Given the description of an element on the screen output the (x, y) to click on. 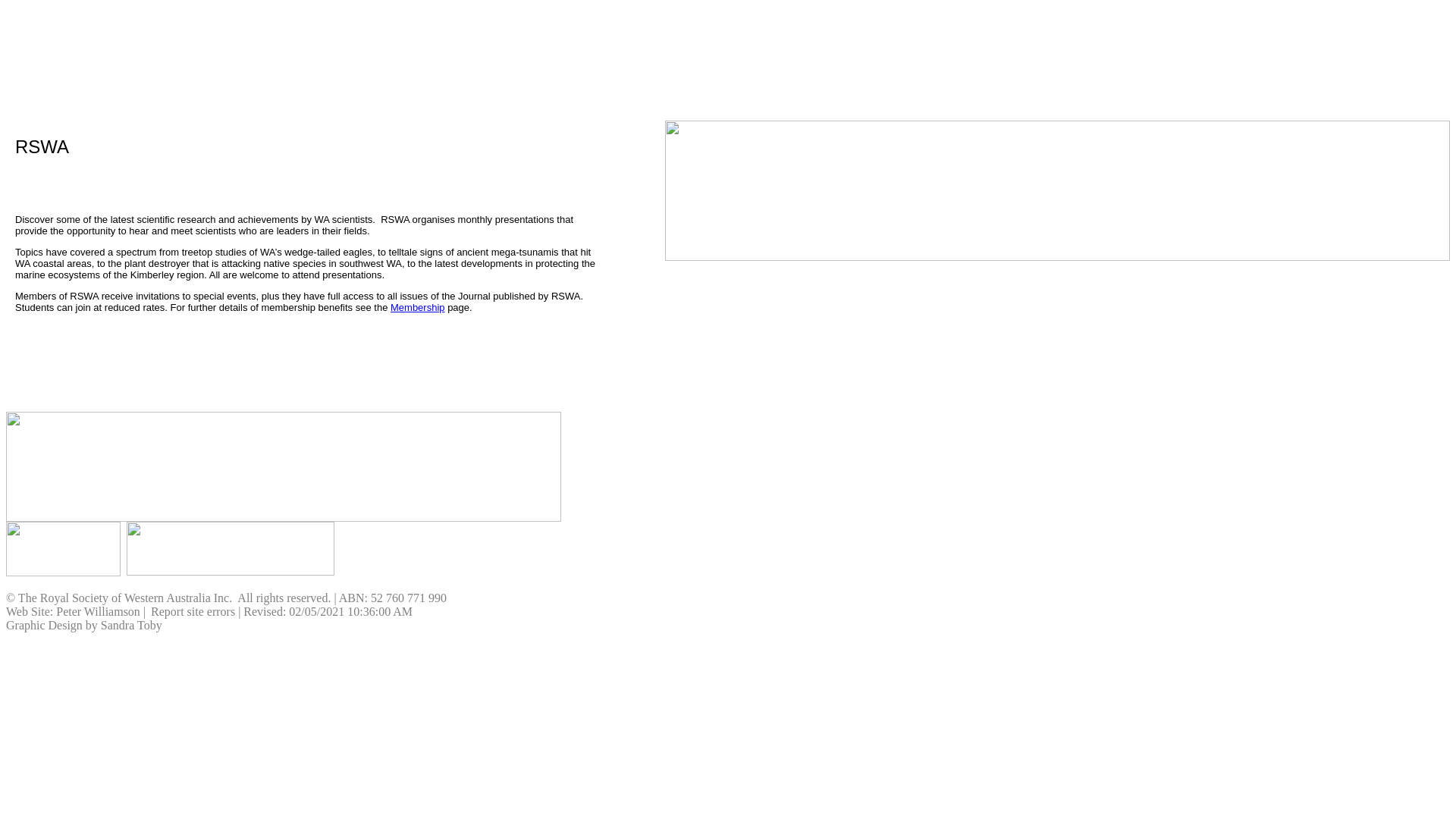
Report site errors Element type: text (192, 611)
Membership Element type: text (417, 307)
